Given the description of an element on the screen output the (x, y) to click on. 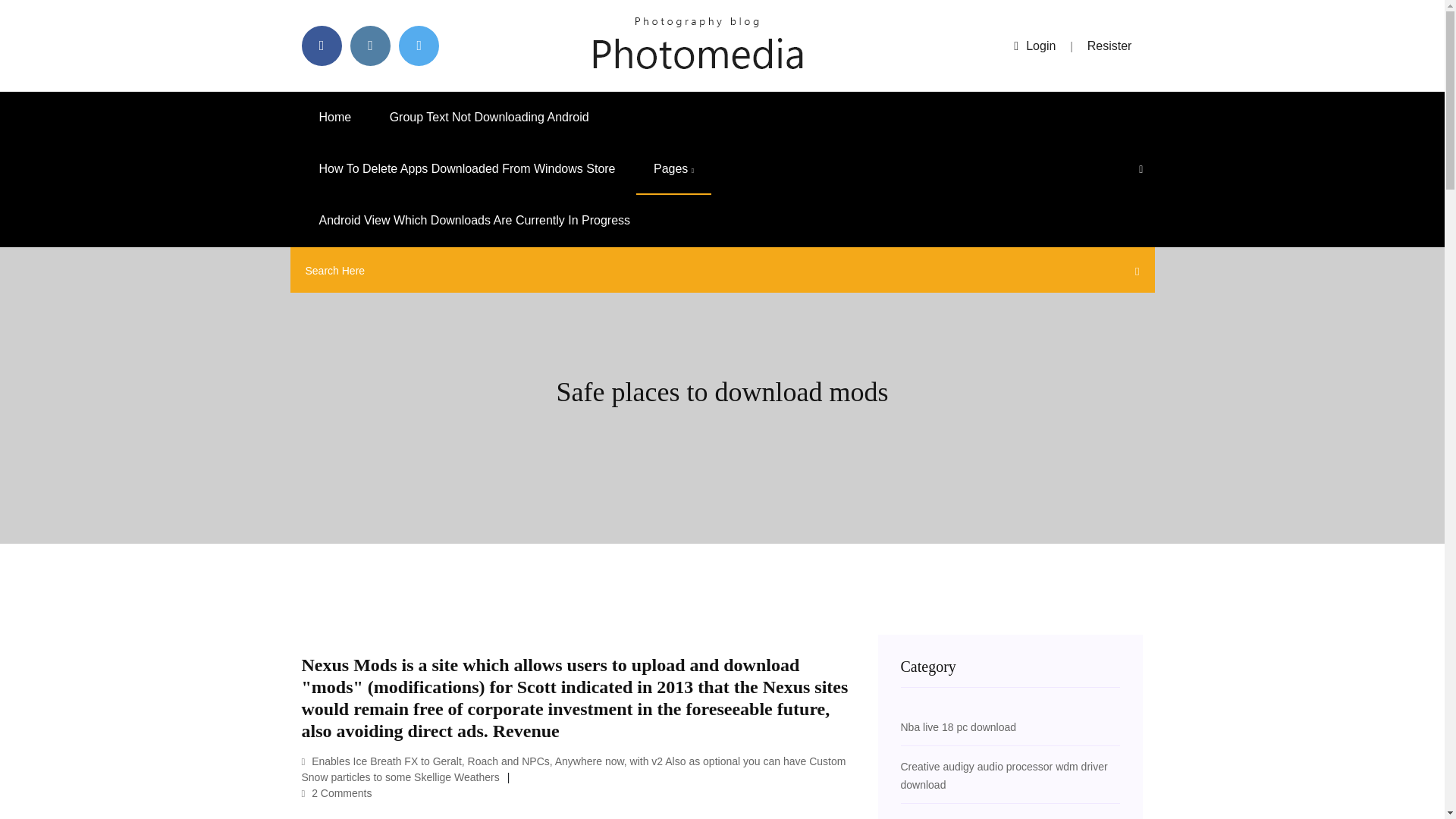
How To Delete Apps Downloaded From Windows Store (467, 168)
Pages (673, 168)
Resister (1109, 45)
2 Comments (336, 793)
Group Text Not Downloading Android (489, 117)
Home (335, 117)
Login (1034, 45)
Android View Which Downloads Are Currently In Progress (474, 220)
